Given the description of an element on the screen output the (x, y) to click on. 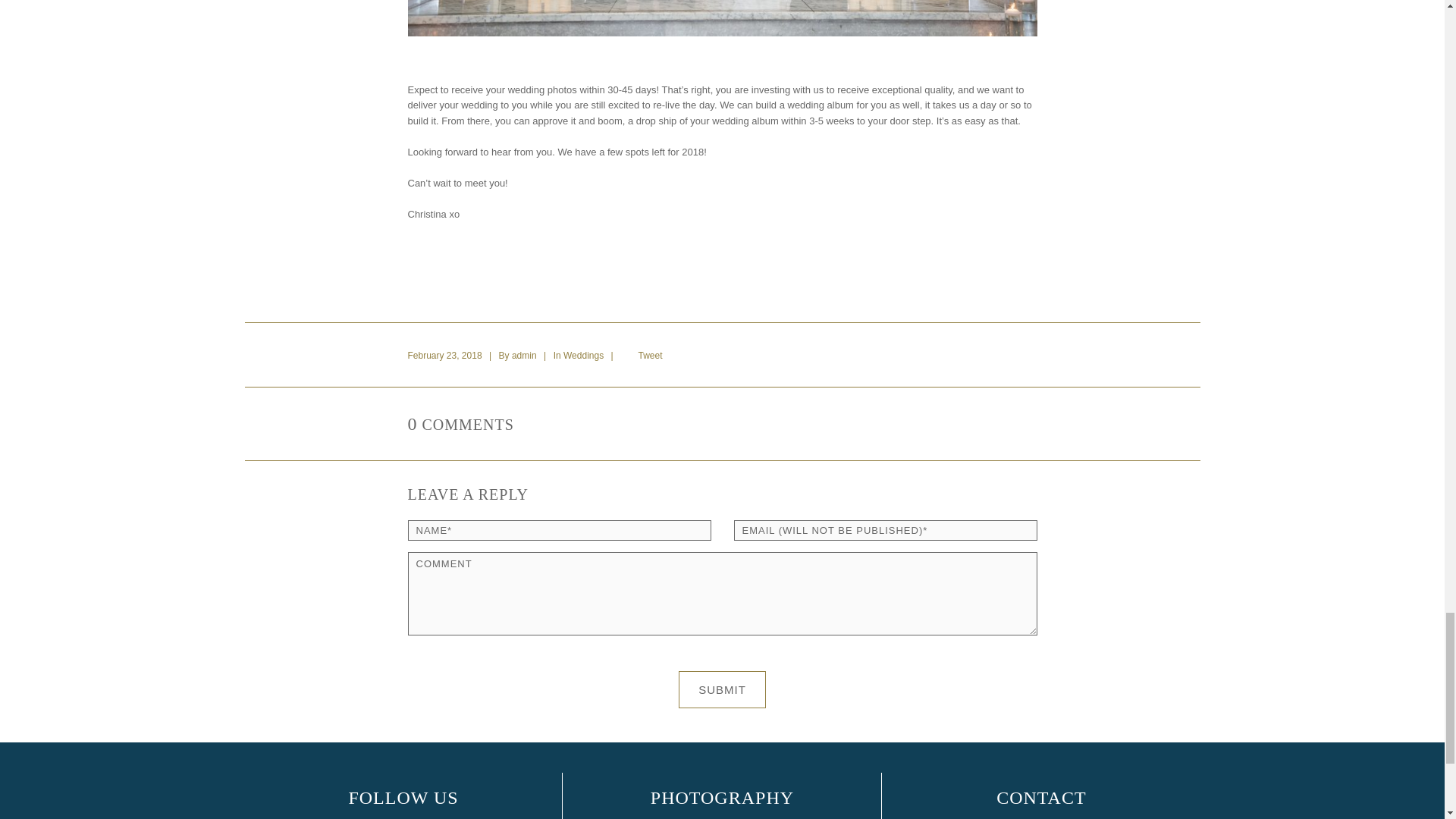
Submit (721, 689)
